Given the description of an element on the screen output the (x, y) to click on. 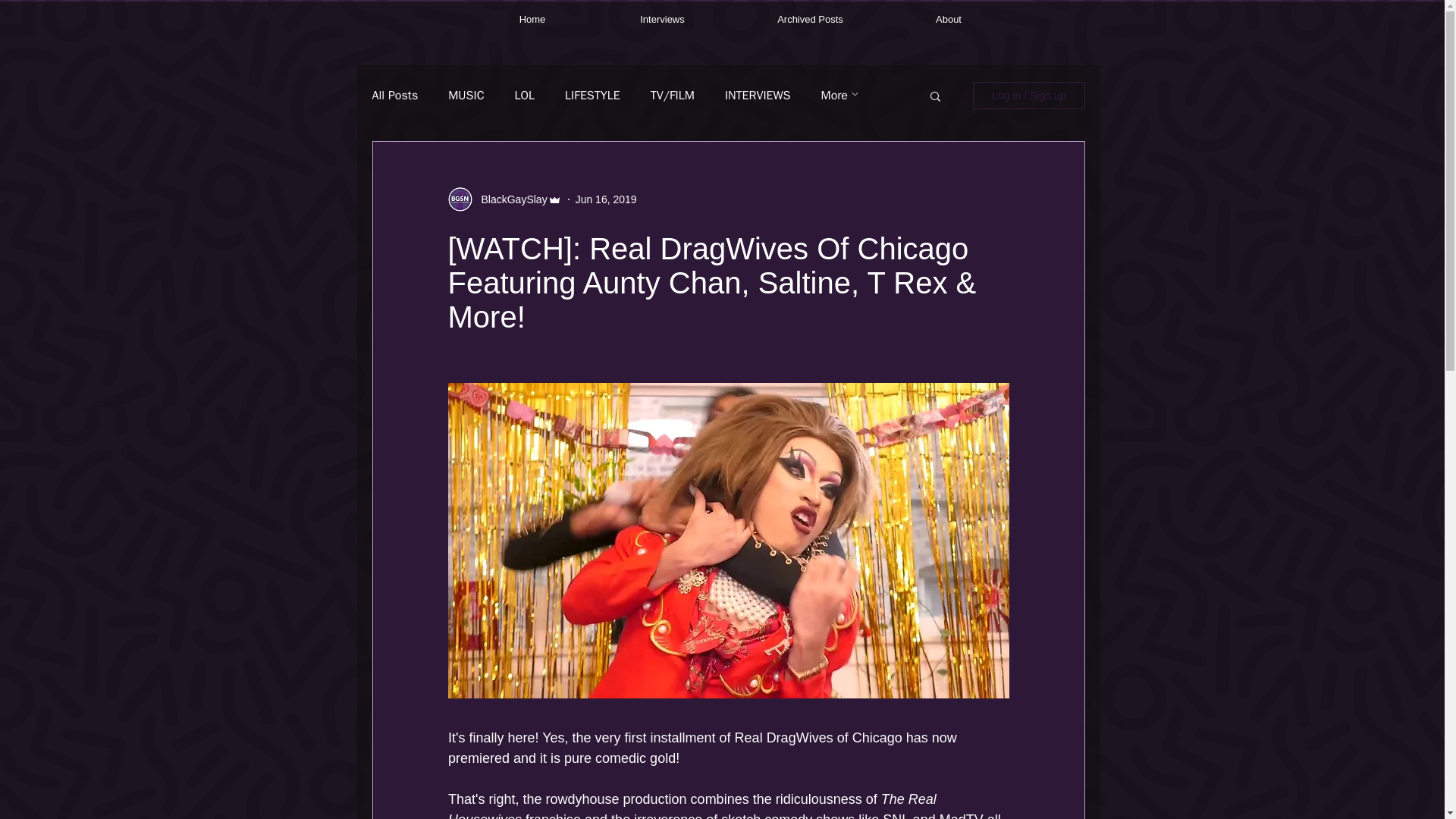
MUSIC (465, 95)
LIFESTYLE (592, 95)
Archived Posts (810, 19)
Interviews (662, 19)
BlackGaySlay (509, 198)
INTERVIEWS (757, 95)
About (948, 19)
All Posts (394, 95)
Jun 16, 2019 (606, 198)
LOL (525, 95)
Home (531, 19)
